Given the description of an element on the screen output the (x, y) to click on. 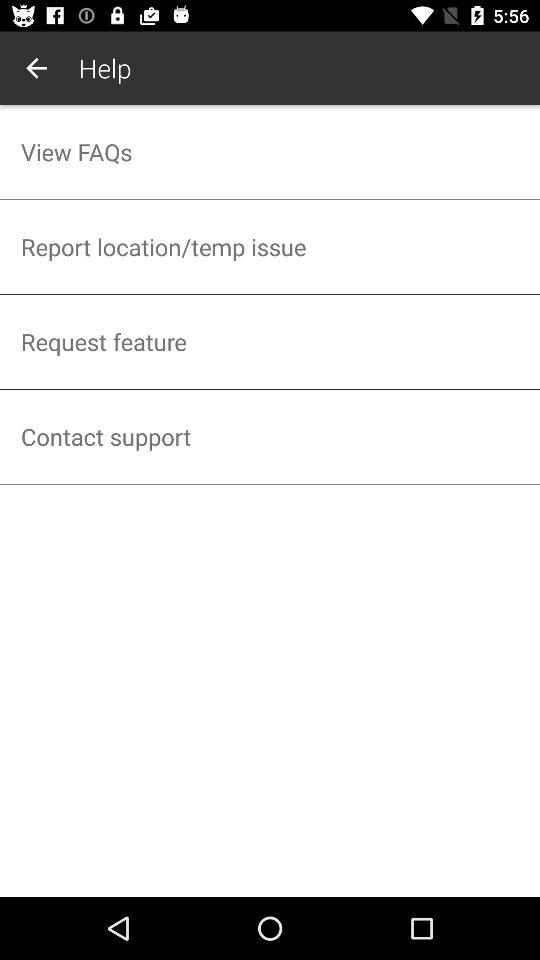
scroll until the report location temp icon (270, 246)
